Given the description of an element on the screen output the (x, y) to click on. 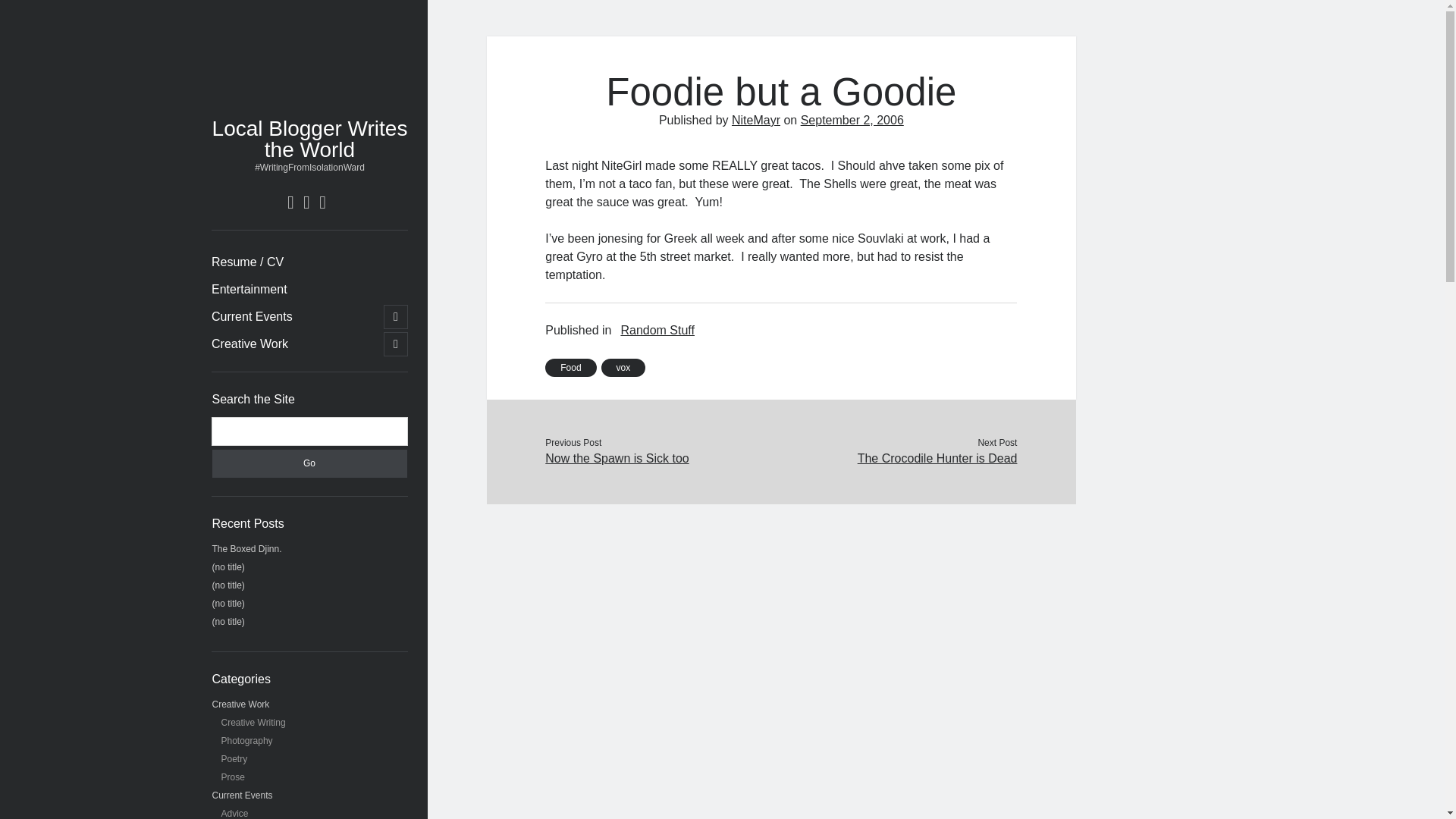
Creative Work (248, 343)
Go (309, 463)
Entertainment (248, 289)
Advice (234, 813)
Local Blogger Writes the World (309, 139)
Current Events (251, 316)
Current Events (242, 795)
Prose (232, 777)
Creative Work (240, 704)
Creative Writing (253, 722)
